Given the description of an element on the screen output the (x, y) to click on. 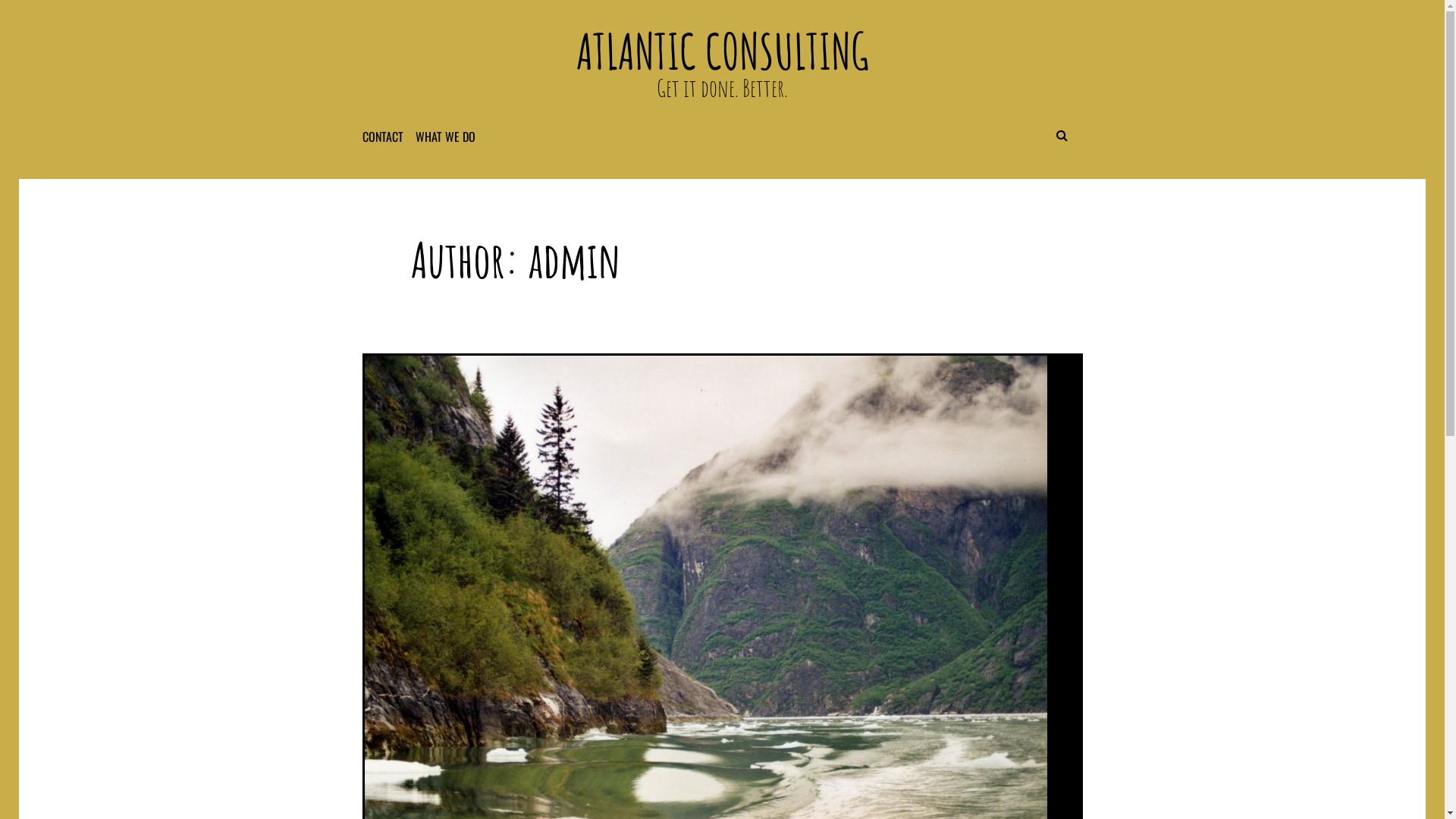
//Skip to content Element type: text (1443, 0)
CONTACT Element type: text (388, 135)
ATLANTIC CONSULTING Element type: text (722, 50)
WHAT WE DO Element type: text (451, 135)
